Given the description of an element on the screen output the (x, y) to click on. 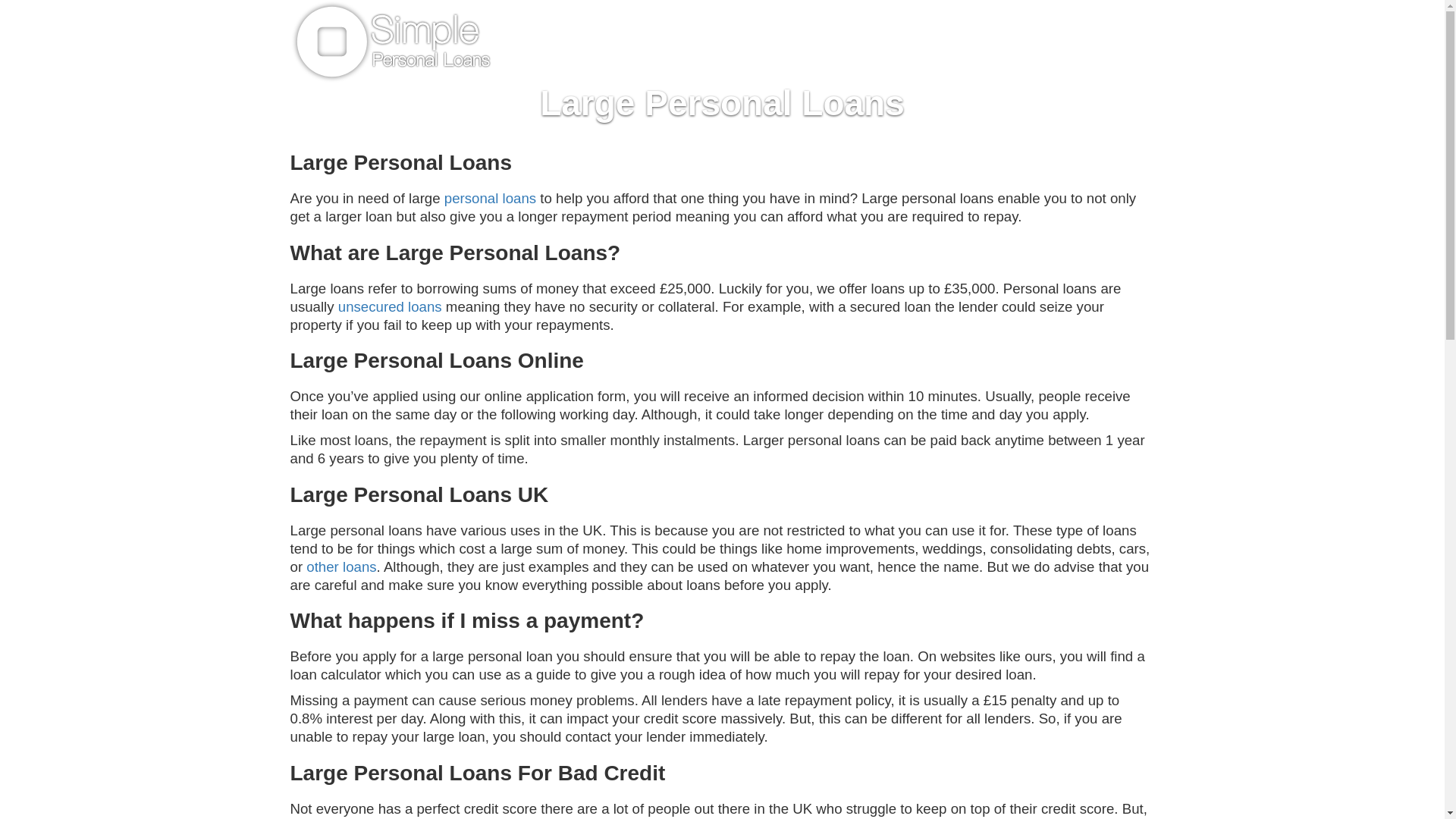
personal loans (489, 198)
loans (423, 306)
other loans (340, 566)
unsecured (370, 306)
